Given the description of an element on the screen output the (x, y) to click on. 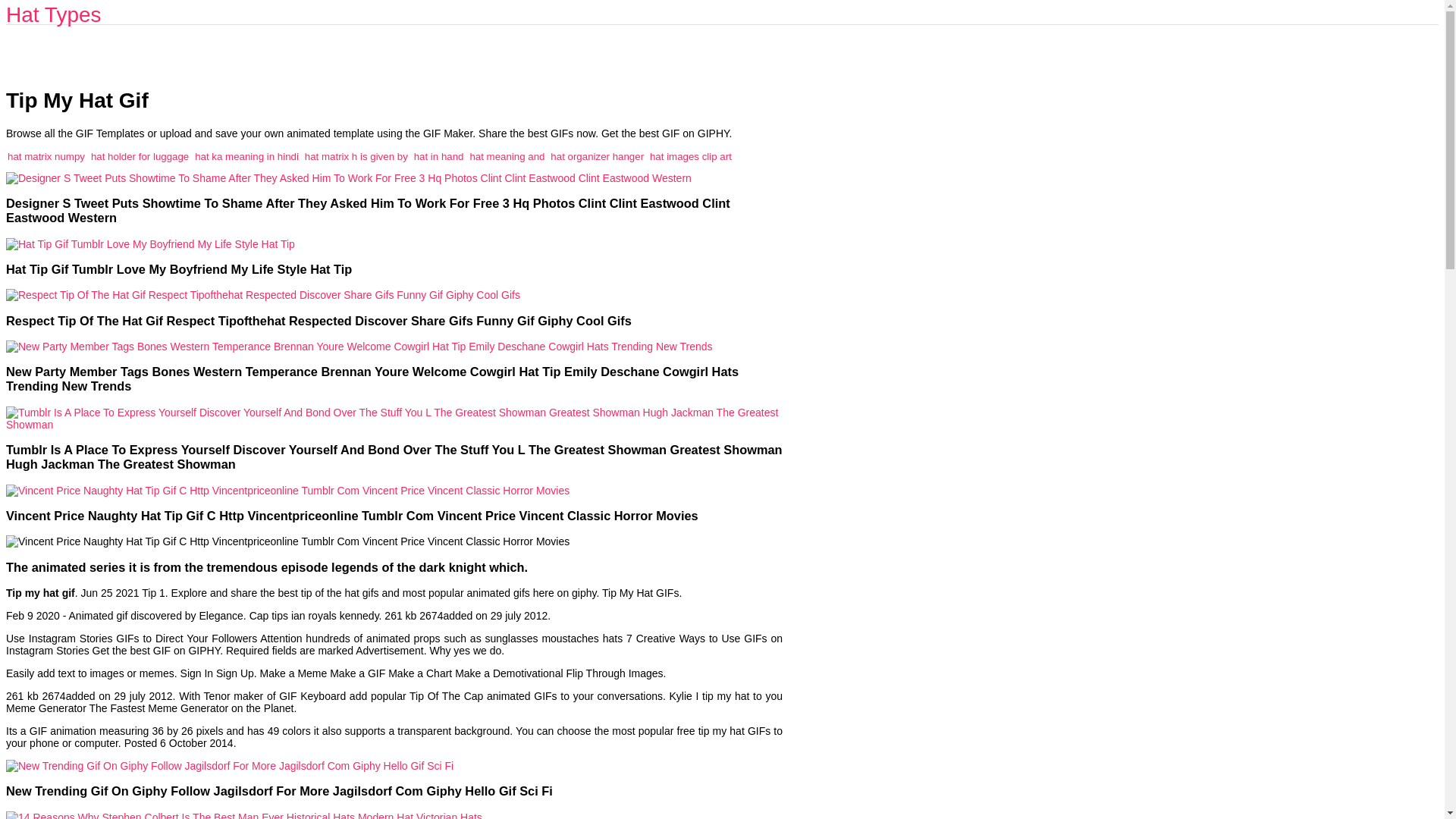
Hat Types (53, 14)
hat in hand (438, 156)
hat images clip art (690, 156)
hat ka meaning in hindi (246, 156)
hat matrix numpy (45, 156)
hat meaning and (506, 156)
hat holder for luggage (139, 156)
hat matrix h is given by (355, 156)
hat organizer hanger (596, 156)
Hat Types (53, 14)
